Given the description of an element on the screen output the (x, y) to click on. 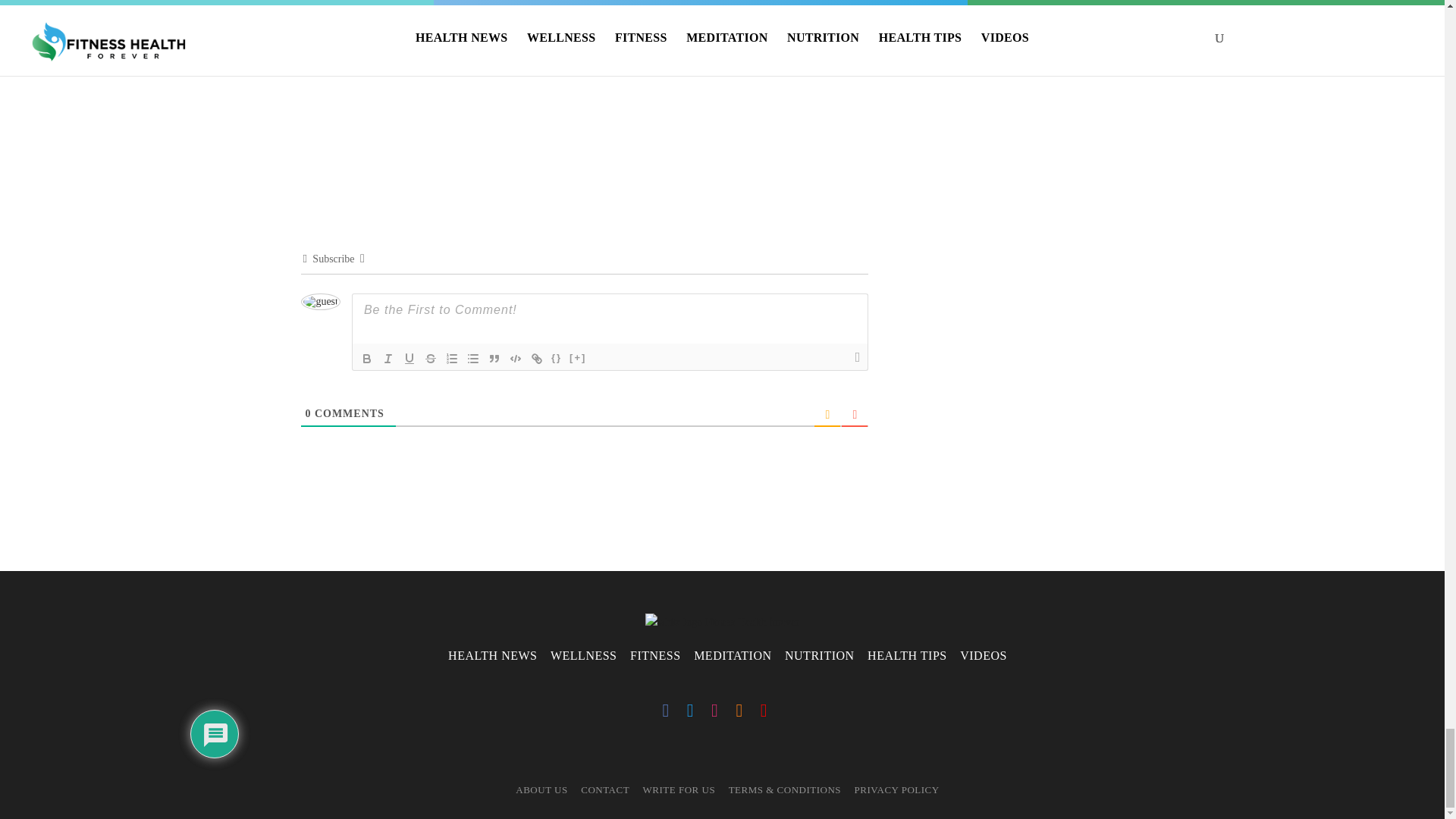
Ordered List (452, 358)
Blockquote (494, 358)
Strike (430, 358)
Unordered List (473, 358)
ordered (452, 358)
Spoiler (577, 358)
Italic (387, 358)
Link (536, 358)
Underline (409, 358)
Source Code (556, 358)
Code Block (515, 358)
bullet (473, 358)
Bold (366, 358)
